Given the description of an element on the screen output the (x, y) to click on. 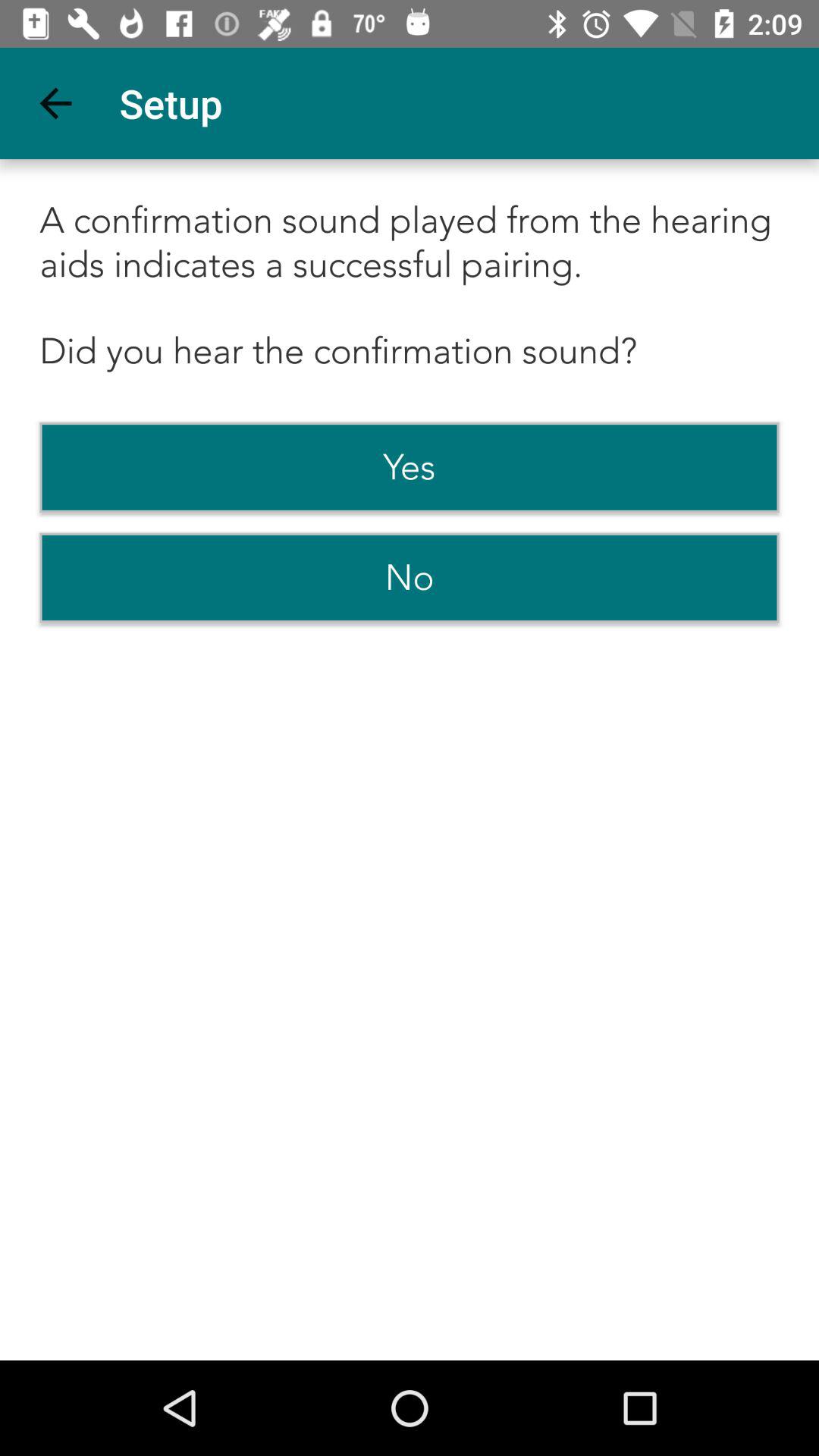
turn on the item above a confirmation sound item (55, 103)
